Given the description of an element on the screen output the (x, y) to click on. 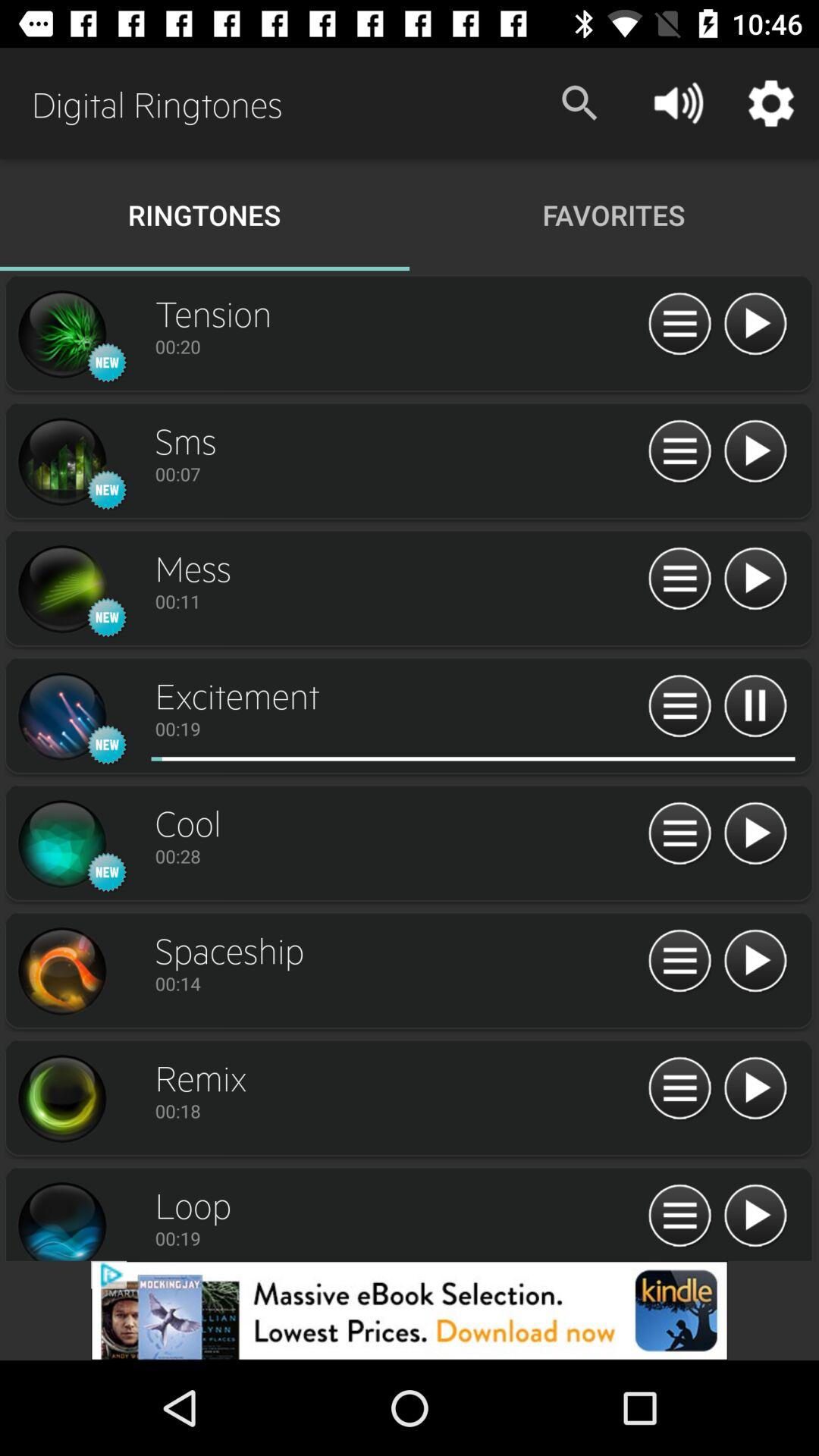
image button (61, 334)
